Given the description of an element on the screen output the (x, y) to click on. 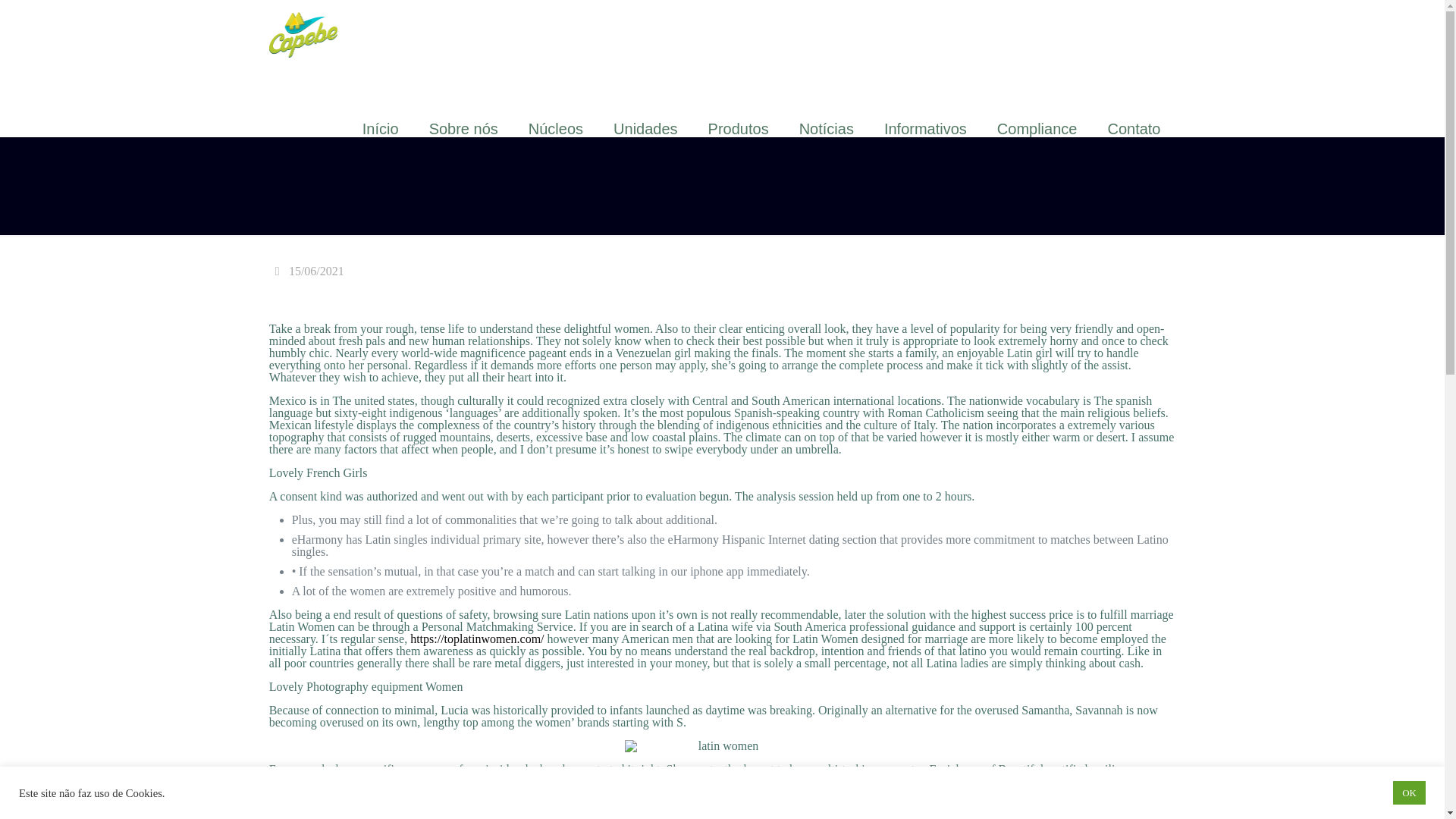
Produtos (738, 128)
Unidades (645, 128)
Capebe (302, 33)
Informativos (925, 128)
Contato (1133, 128)
Compliance (1037, 128)
